Given the description of an element on the screen output the (x, y) to click on. 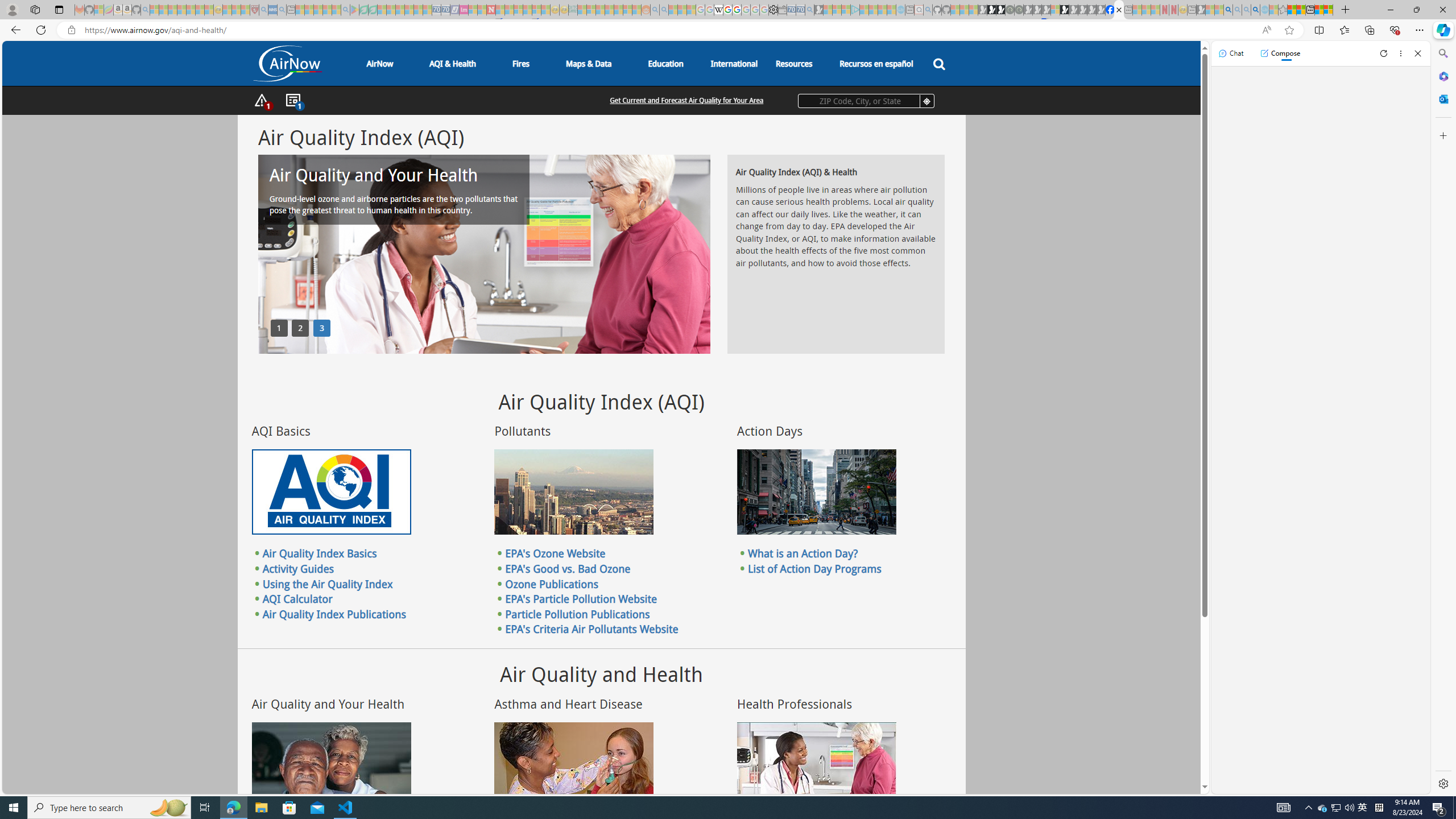
Google Chrome Internet Browser Download - Search Images (1255, 9)
AutomationID: nav-alerts-toggle (261, 100)
Asthma and Heart Disease (573, 764)
EPA's Ozone Website (555, 553)
